Given the description of an element on the screen output the (x, y) to click on. 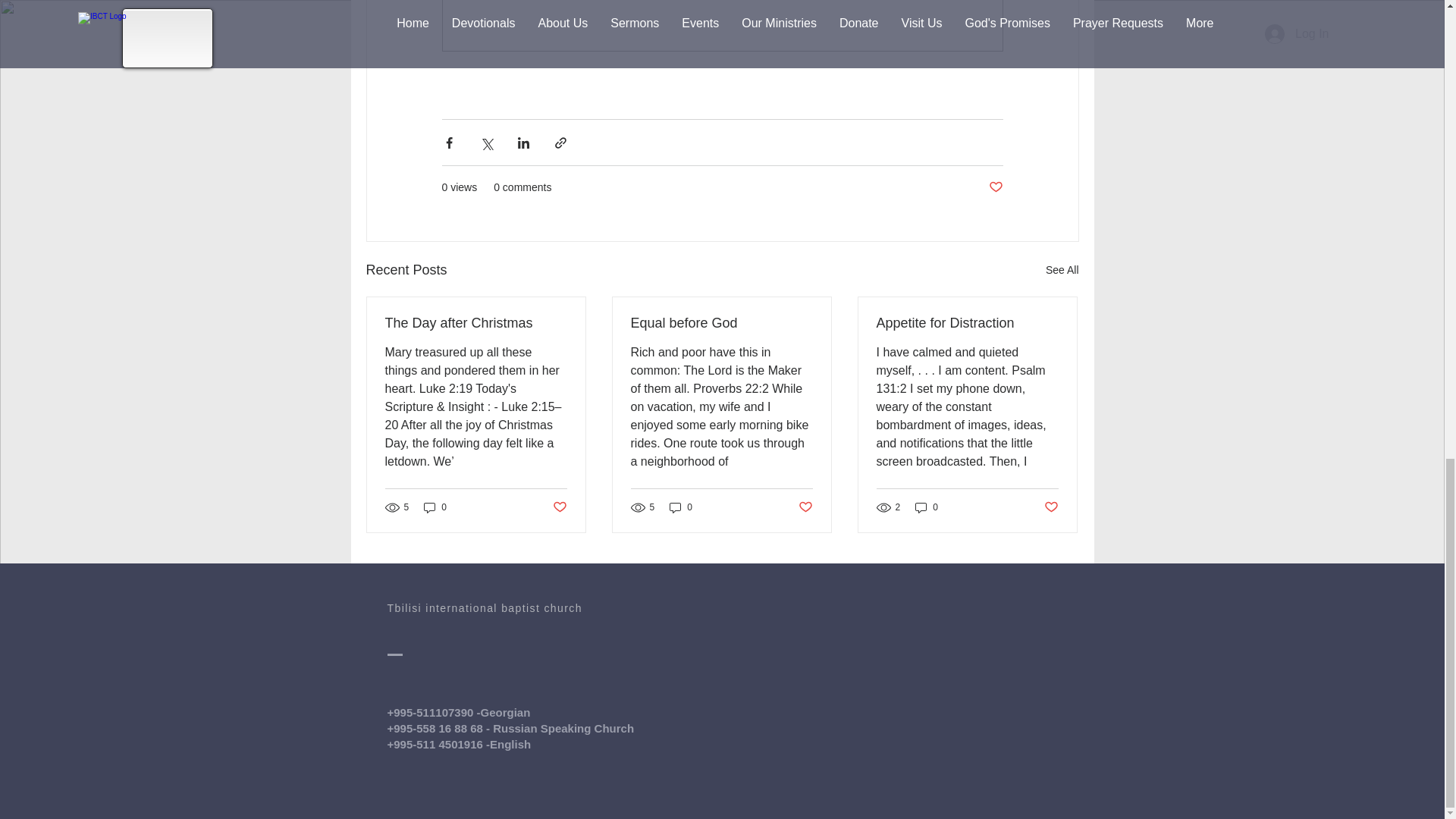
Post not marked as liked (804, 507)
Post not marked as liked (558, 507)
Appetite for Distraction (967, 323)
Post not marked as liked (995, 187)
0 (435, 507)
The Day after Christmas (476, 323)
Equal before God (721, 323)
0 (681, 507)
See All (1061, 270)
0 (926, 507)
